Given the description of an element on the screen output the (x, y) to click on. 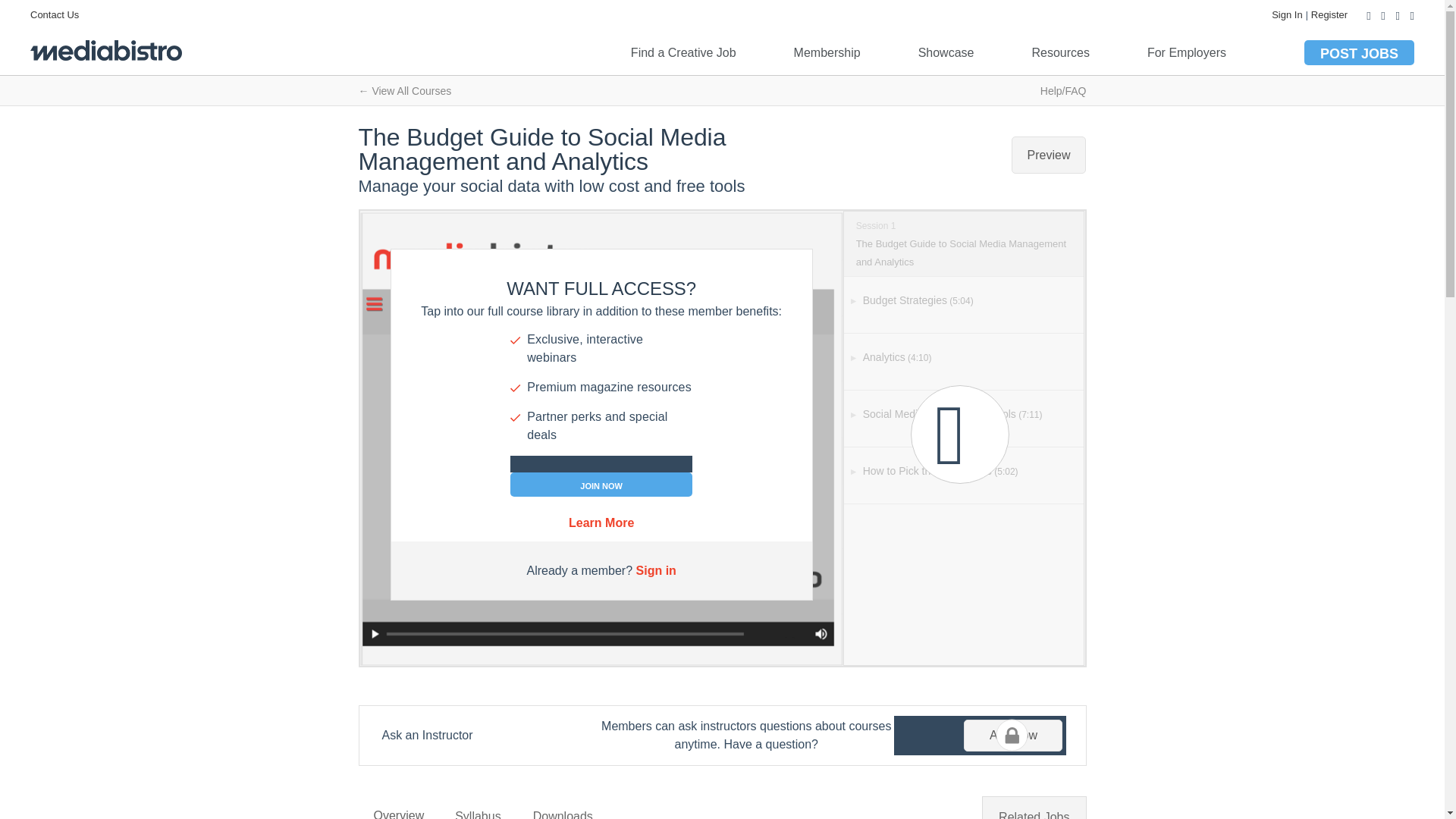
Find a Creative Job (683, 52)
Showcase (946, 52)
Resources (1059, 52)
Membership (826, 52)
For Employers (1186, 52)
Contact Us (54, 14)
Register (1329, 14)
POST JOBS (1358, 52)
Sign In (1286, 14)
